Given the description of an element on the screen output the (x, y) to click on. 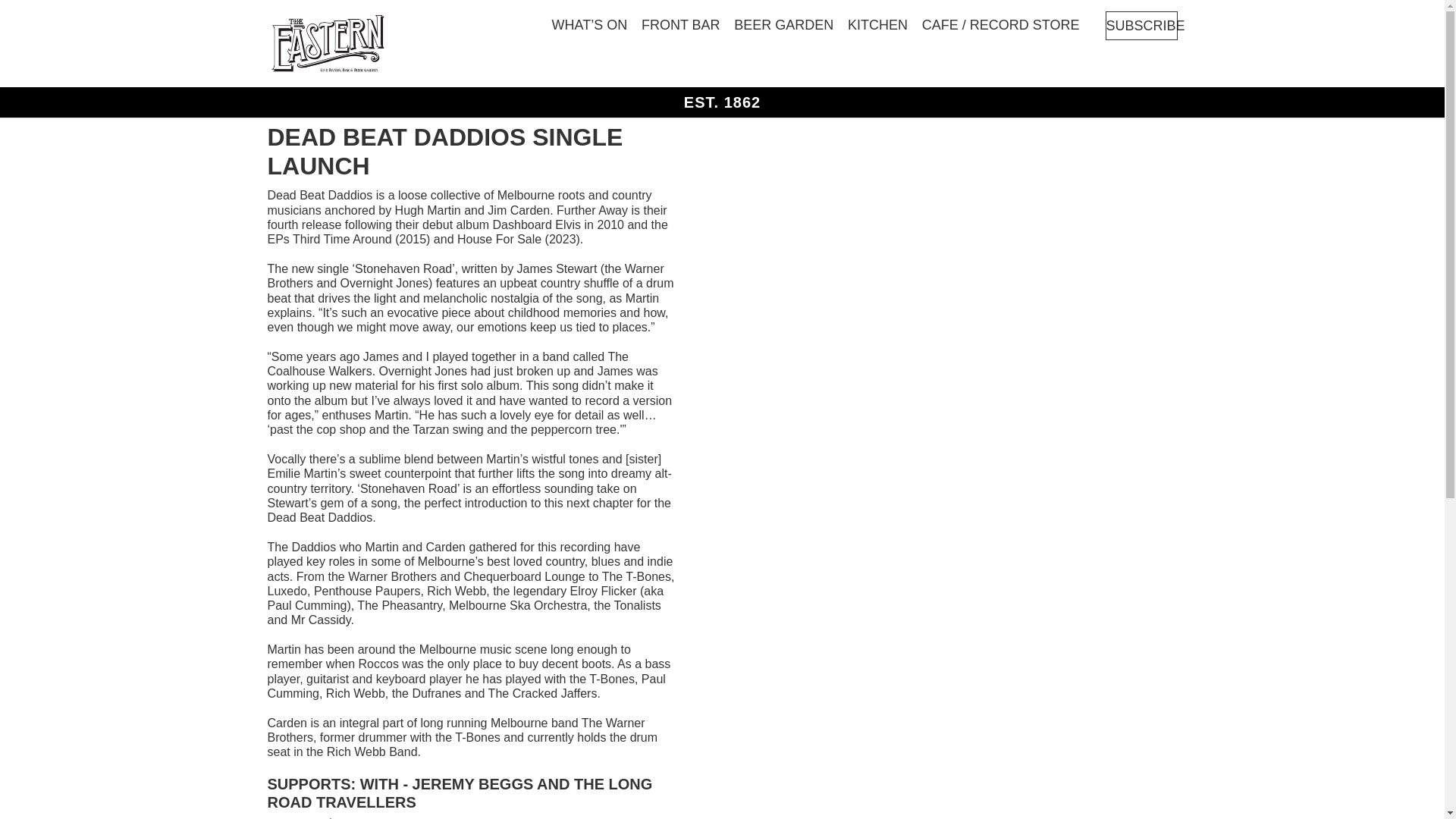
SUBSCRIBE (1141, 25)
FRONT BAR (681, 24)
KITCHEN (877, 24)
BEER GARDEN (782, 24)
